Given the description of an element on the screen output the (x, y) to click on. 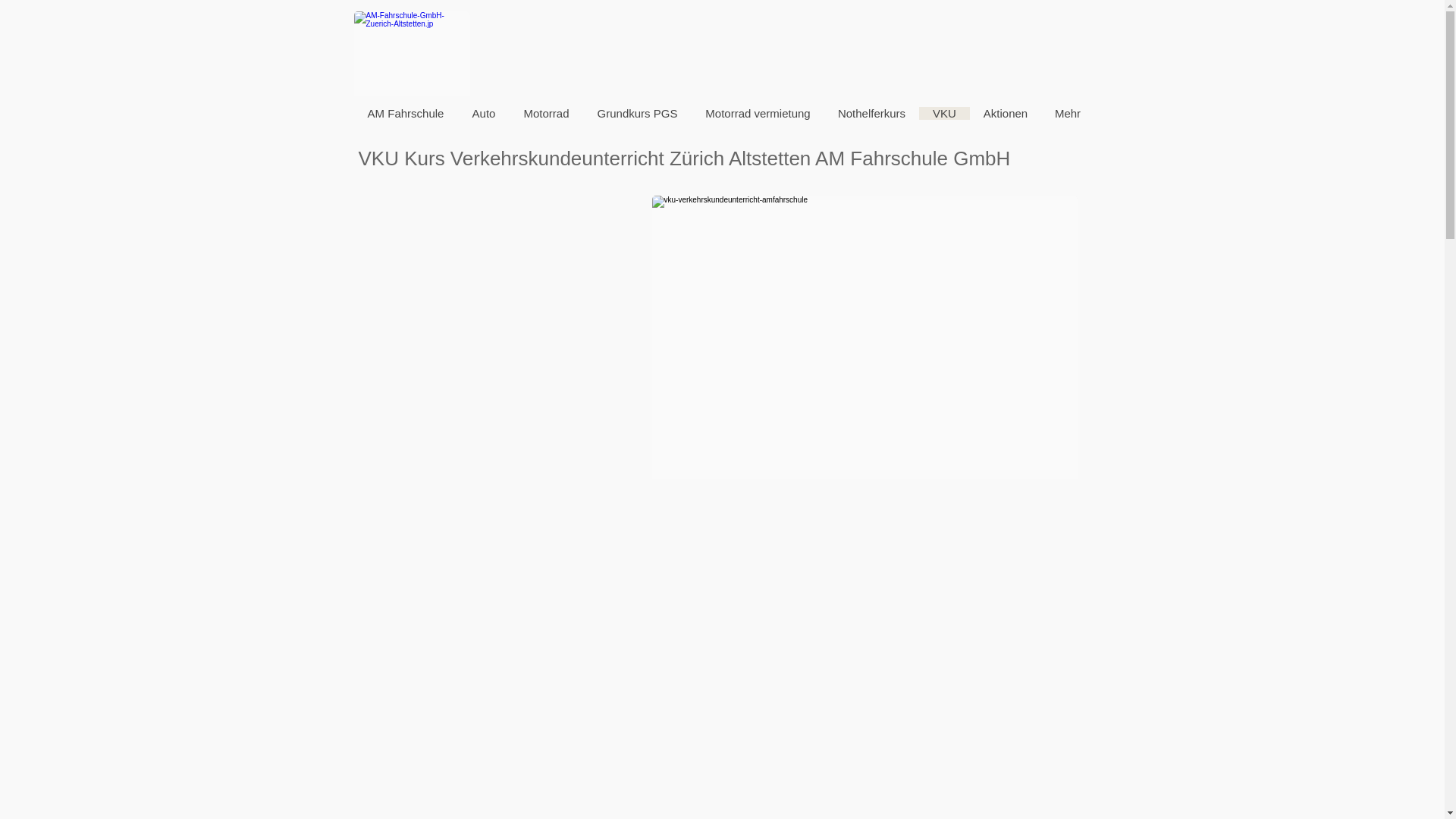
AM Fahrschule Element type: text (405, 112)
Auto Element type: text (483, 112)
Aktionen Element type: text (1004, 112)
Nothelferkurs Element type: text (870, 112)
Motorrad vermietung Element type: text (757, 112)
VKU Element type: text (944, 112)
Motorrad Element type: text (546, 112)
Grundkurs PGS Element type: text (636, 112)
AM Fahrschle Logo Element type: hover (411, 53)
